Given the description of an element on the screen output the (x, y) to click on. 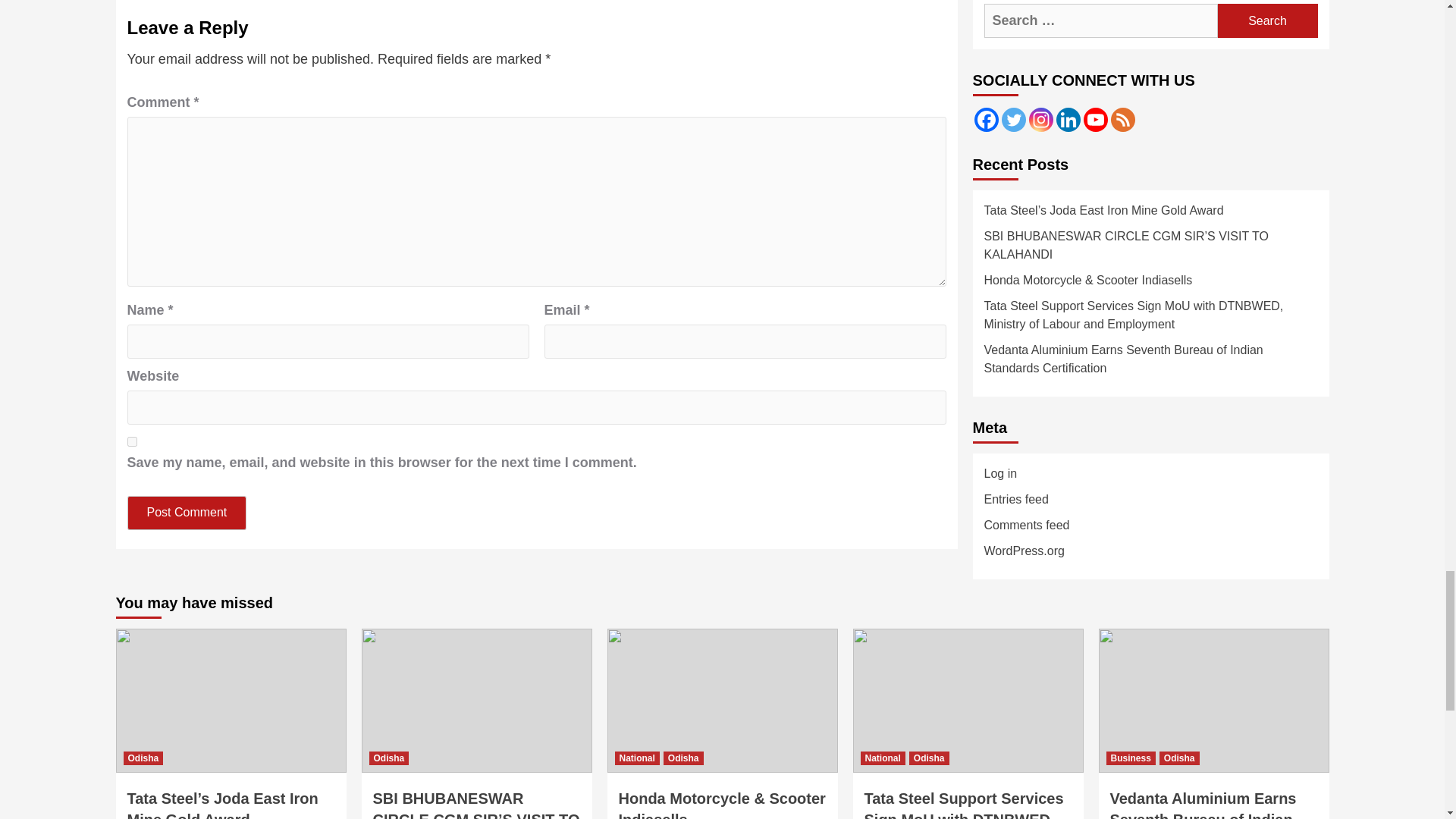
yes (132, 441)
Post Comment (187, 512)
